Given the description of an element on the screen output the (x, y) to click on. 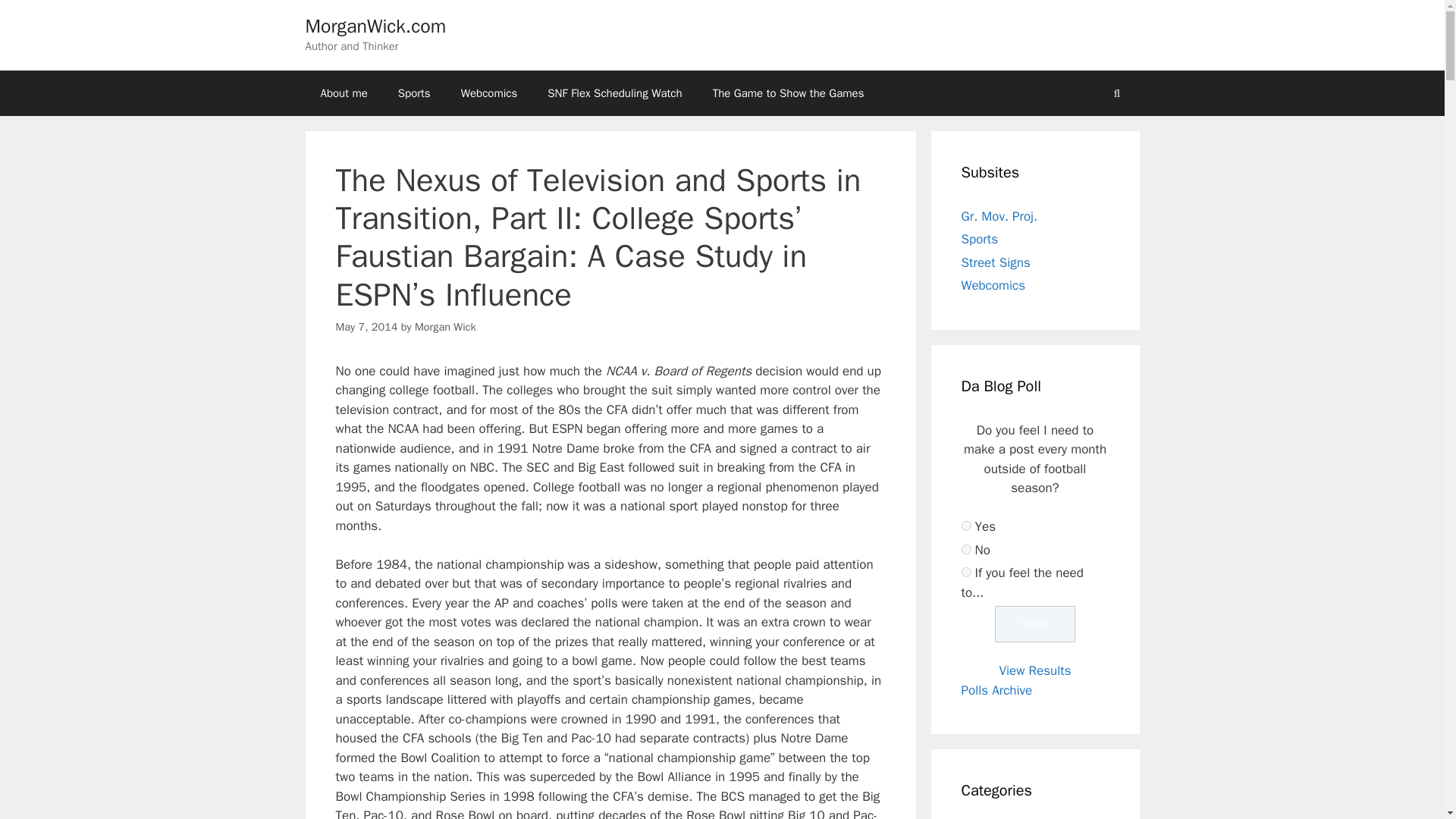
The Game to Show the Games (788, 92)
42 (965, 525)
View Results Of This Poll (1034, 670)
44 (965, 572)
View all posts by Morgan Wick (445, 326)
Polls Archive (996, 690)
Morgan Wick (445, 326)
Sports (413, 92)
43 (965, 549)
Street Signs (995, 262)
